Given the description of an element on the screen output the (x, y) to click on. 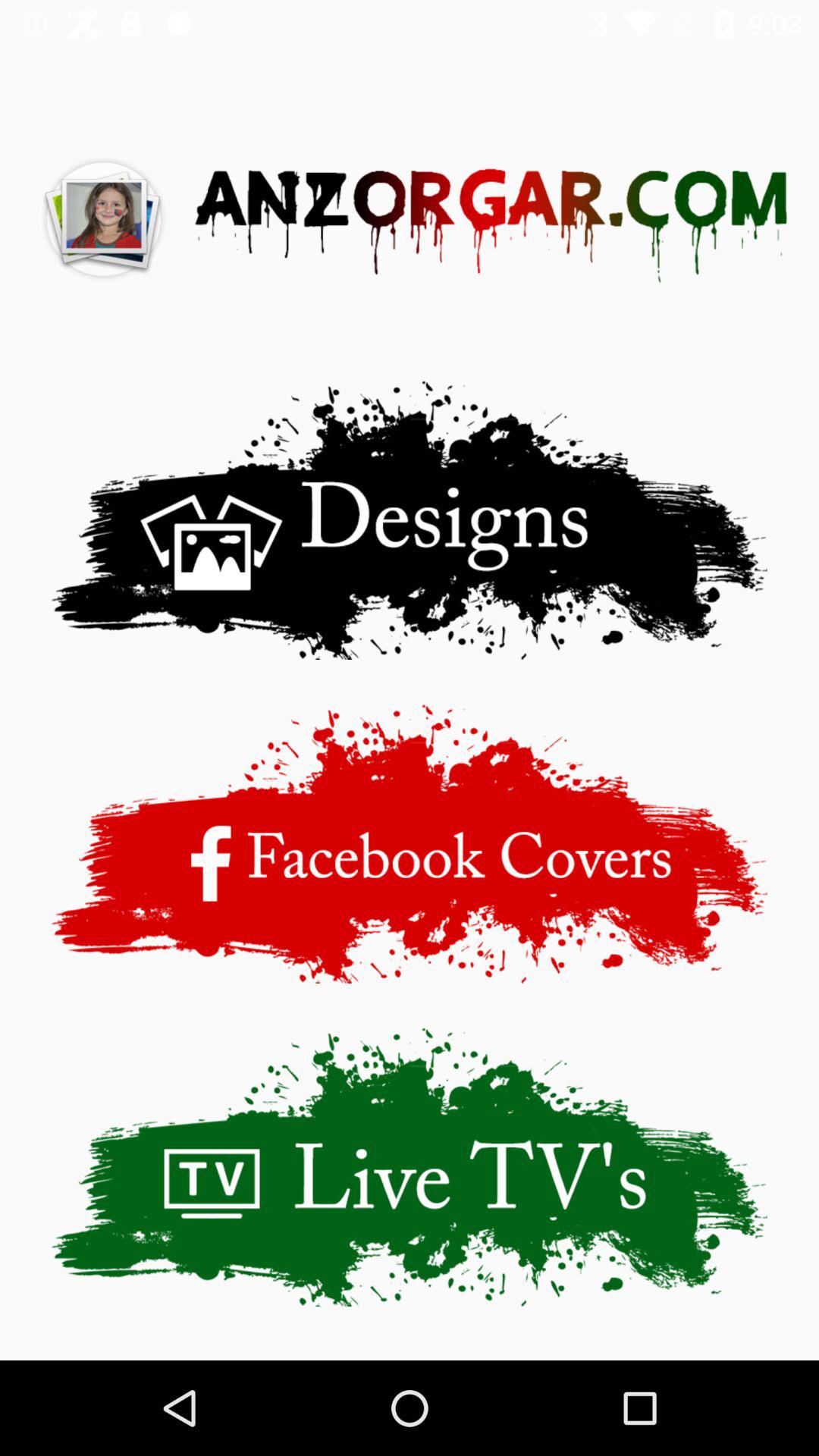
designs (409, 520)
